Given the description of an element on the screen output the (x, y) to click on. 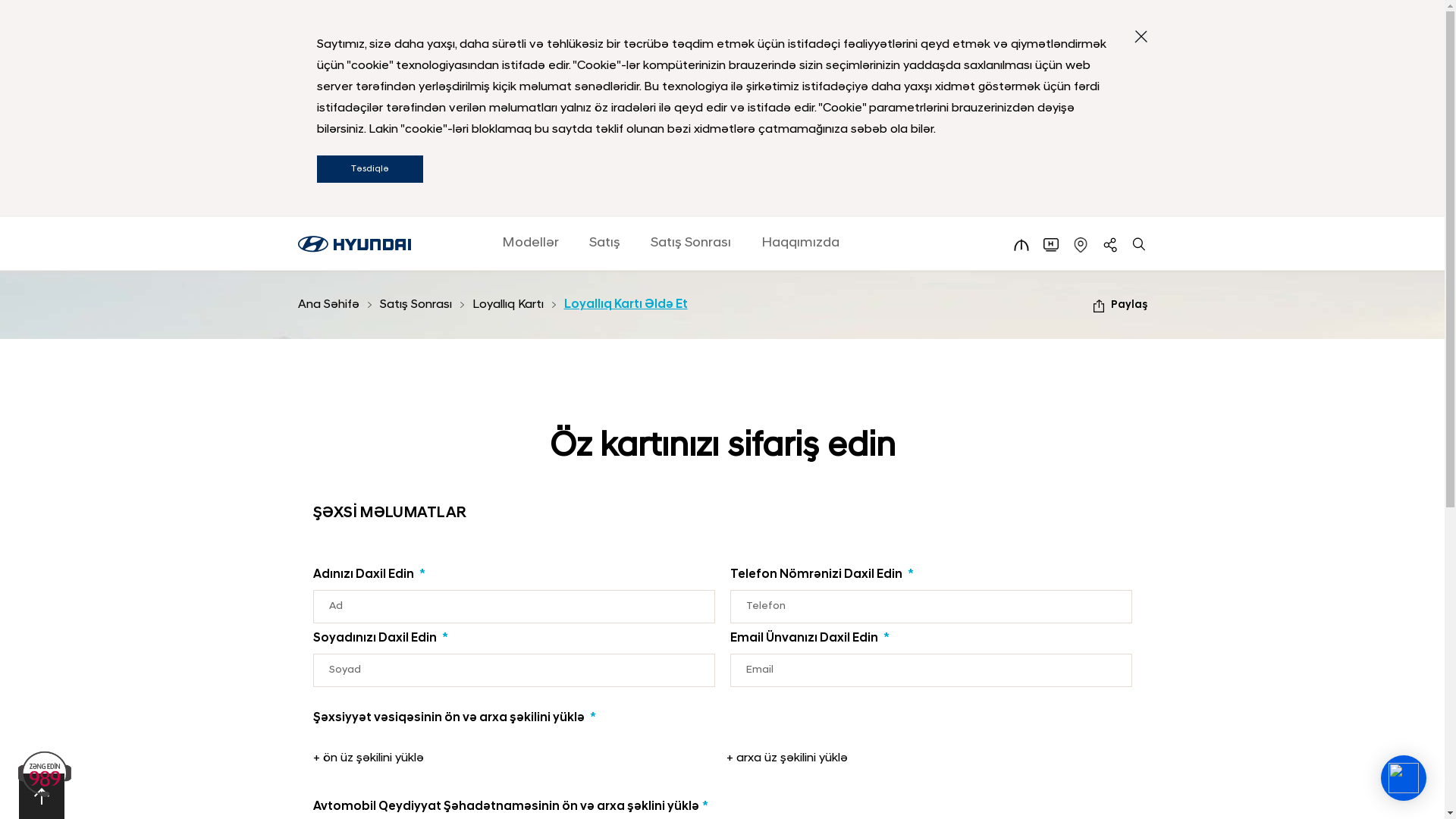
hyundai Element type: text (353, 243)
Axtar Element type: text (1138, 244)
Hyundai Tv Element type: text (1050, 244)
